Given the description of an element on the screen output the (x, y) to click on. 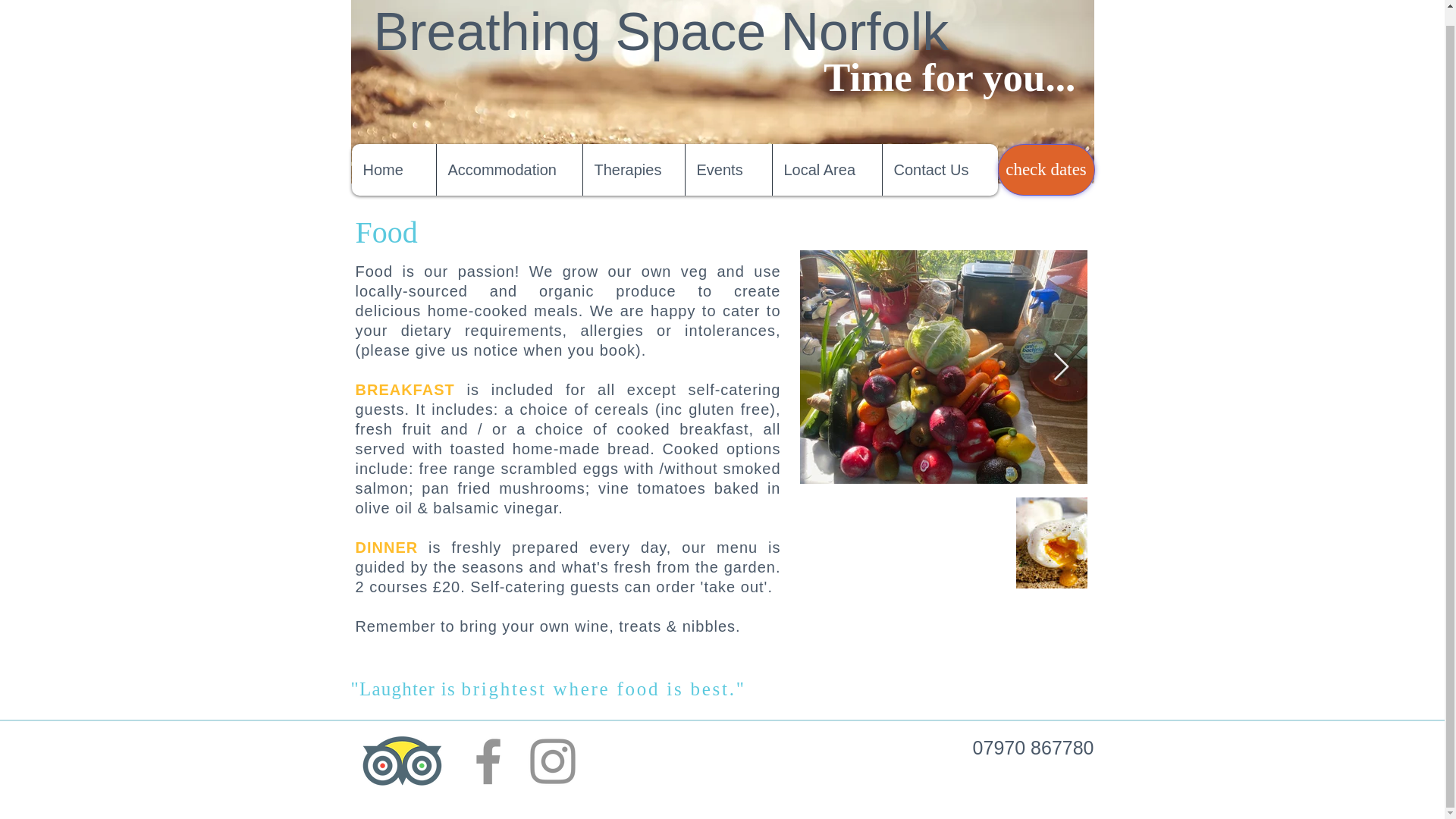
Events (727, 169)
Therapies (633, 169)
Local Area (826, 169)
Accommodation (507, 169)
check dates (1045, 169)
Contact Us (938, 169)
Home (393, 169)
